Given the description of an element on the screen output the (x, y) to click on. 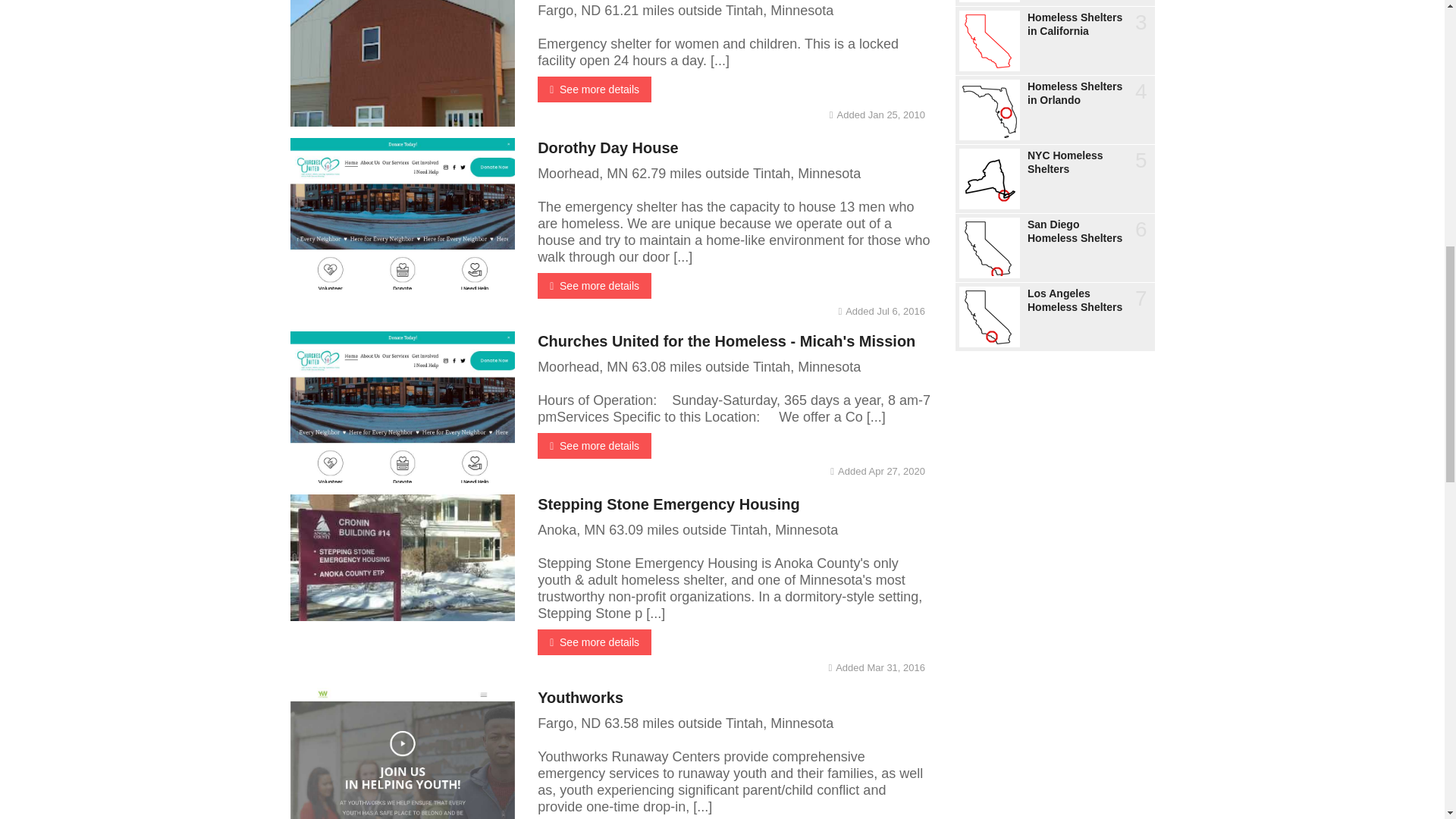
Dorothy Day House (607, 147)
  See more details (593, 285)
Stepping Stone Emergency Housing (668, 504)
Churches United for the Homeless - Micah's Mission (726, 340)
  See more details (593, 89)
  See more details (593, 445)
